Given the description of an element on the screen output the (x, y) to click on. 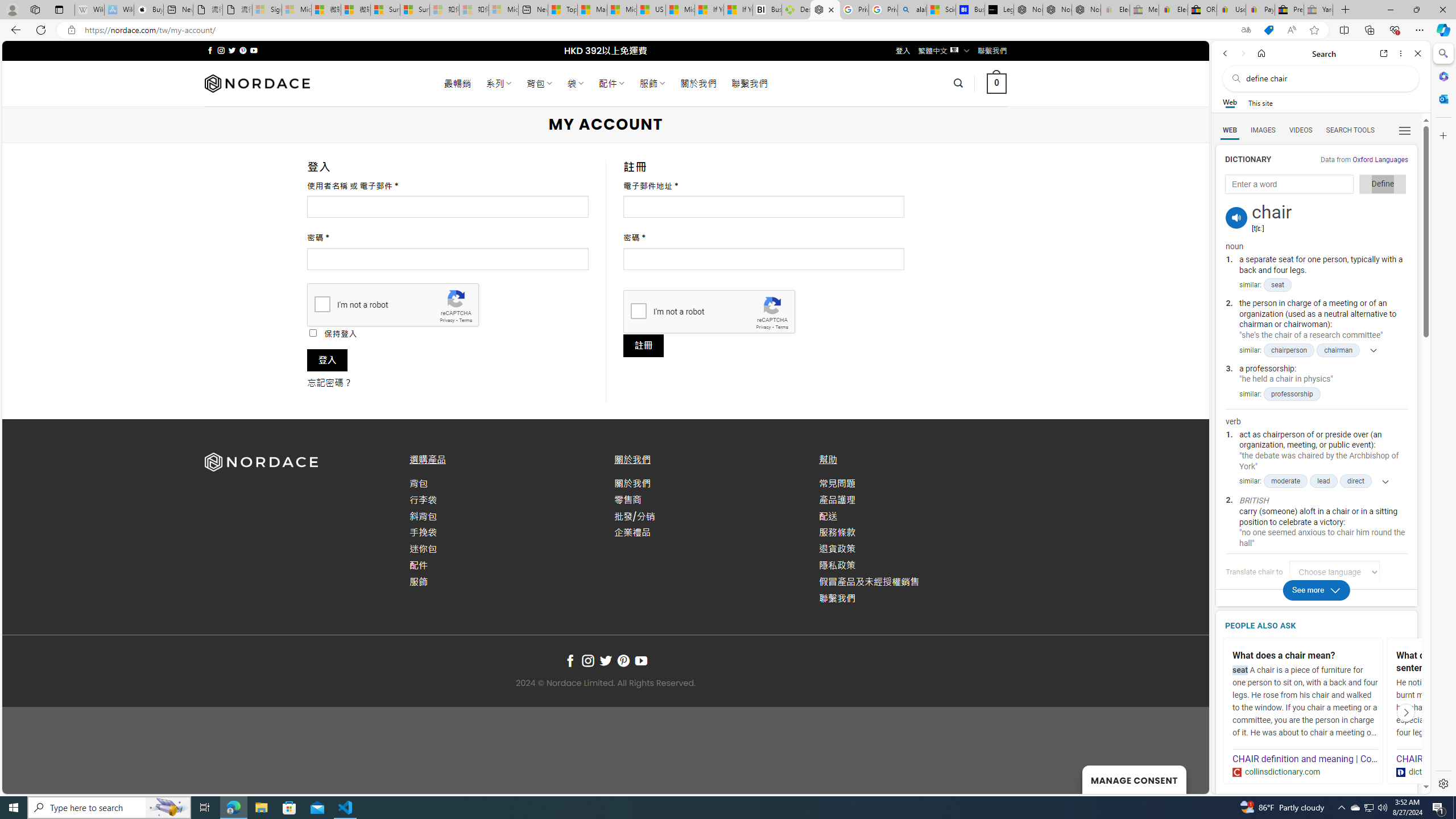
  0   (995, 83)
Buy iPad - Apple (148, 9)
 0  (995, 83)
